Given the description of an element on the screen output the (x, y) to click on. 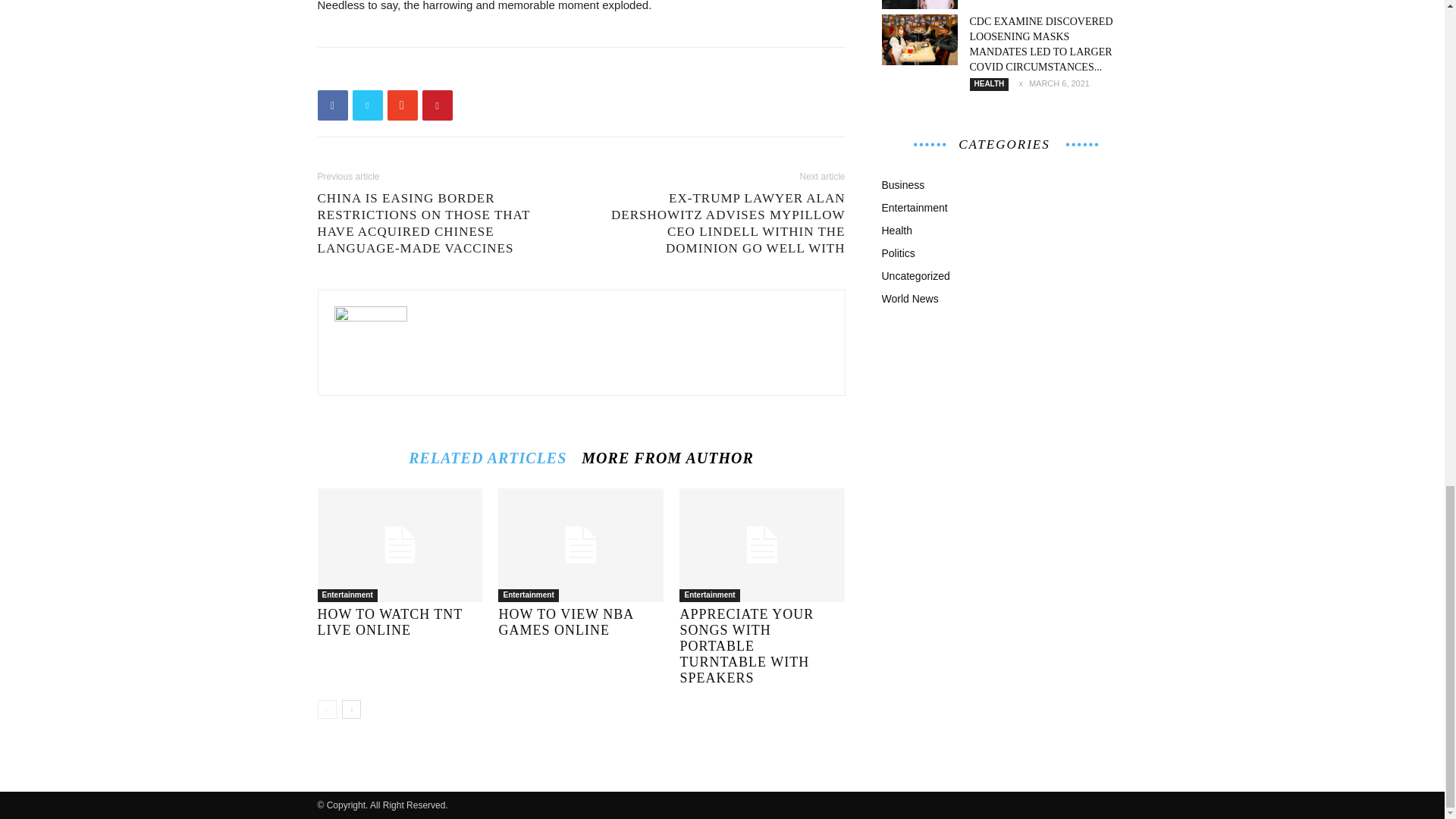
How to Watch TNT Live Online (390, 622)
Appreciate Your Songs With Portable Turntable With Speakers (761, 544)
How to View NBA Games Online (580, 544)
How to Watch TNT Live Online (399, 544)
How to View NBA Games Online (565, 622)
Appreciate Your Songs With Portable Turntable With Speakers (746, 645)
